Given the description of an element on the screen output the (x, y) to click on. 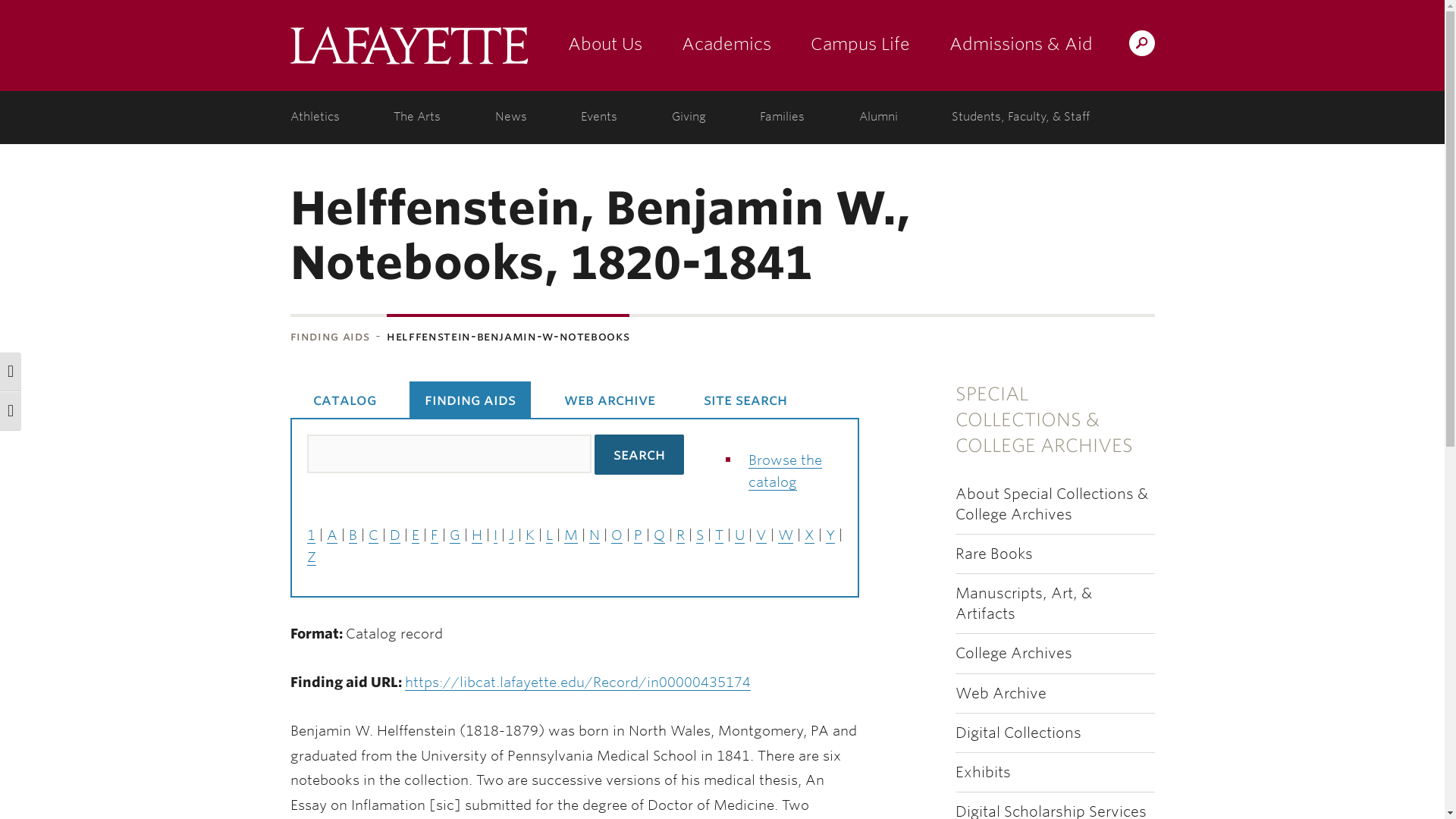
About Us (603, 45)
Search Lafayette.edu (1141, 43)
Lafayette College (408, 45)
Academics (725, 45)
Search (639, 454)
Campus Life (859, 45)
Search (842, 42)
